Given the description of an element on the screen output the (x, y) to click on. 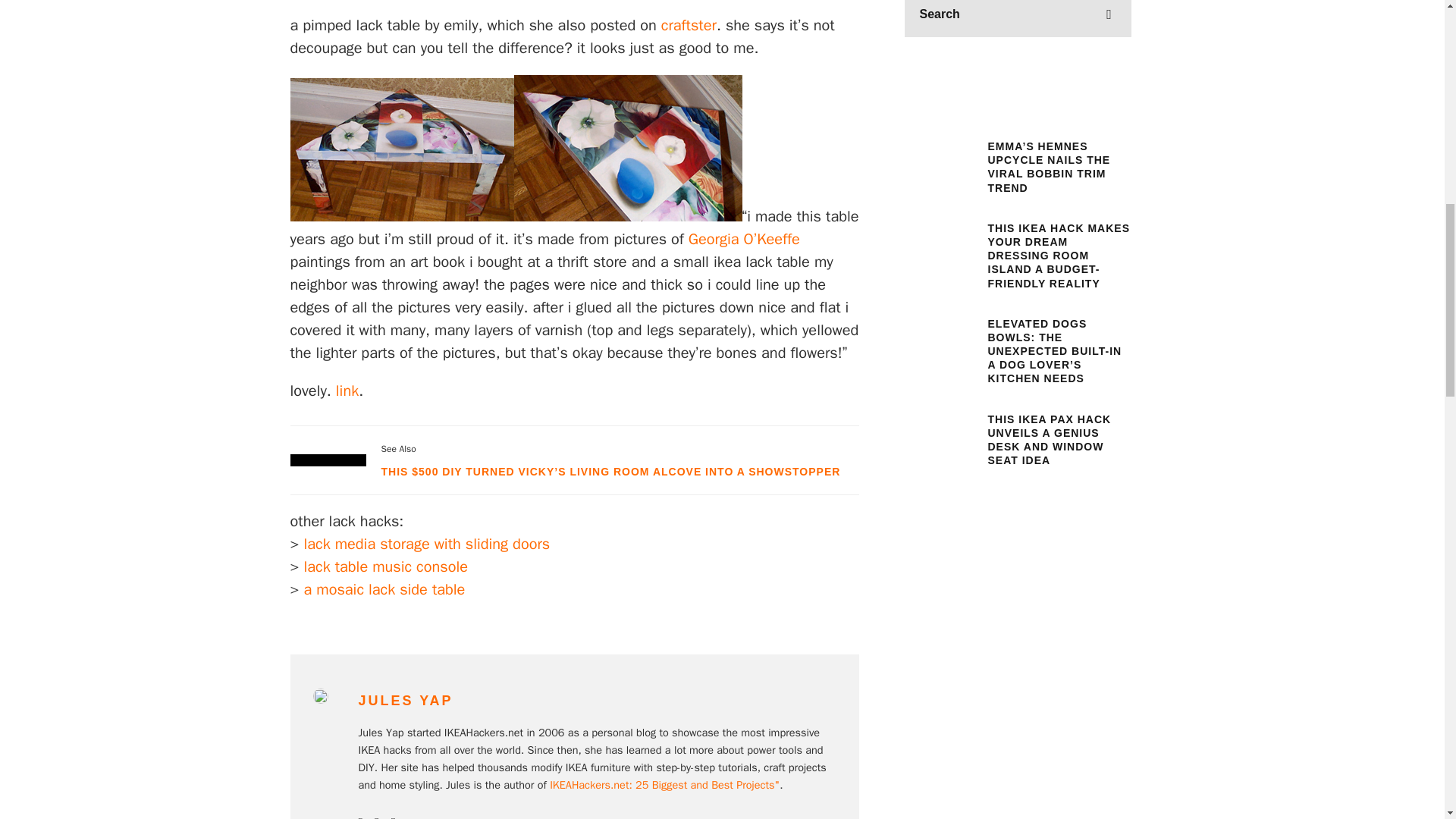
link (347, 390)
wrap your side table in lovely o'keeffe 5 (627, 148)
craftster (688, 25)
wrap your side table in lovely o'keeffe 4 (401, 149)
wrap your side table in lovely o'keeffe 1 (721, 6)
